Given the description of an element on the screen output the (x, y) to click on. 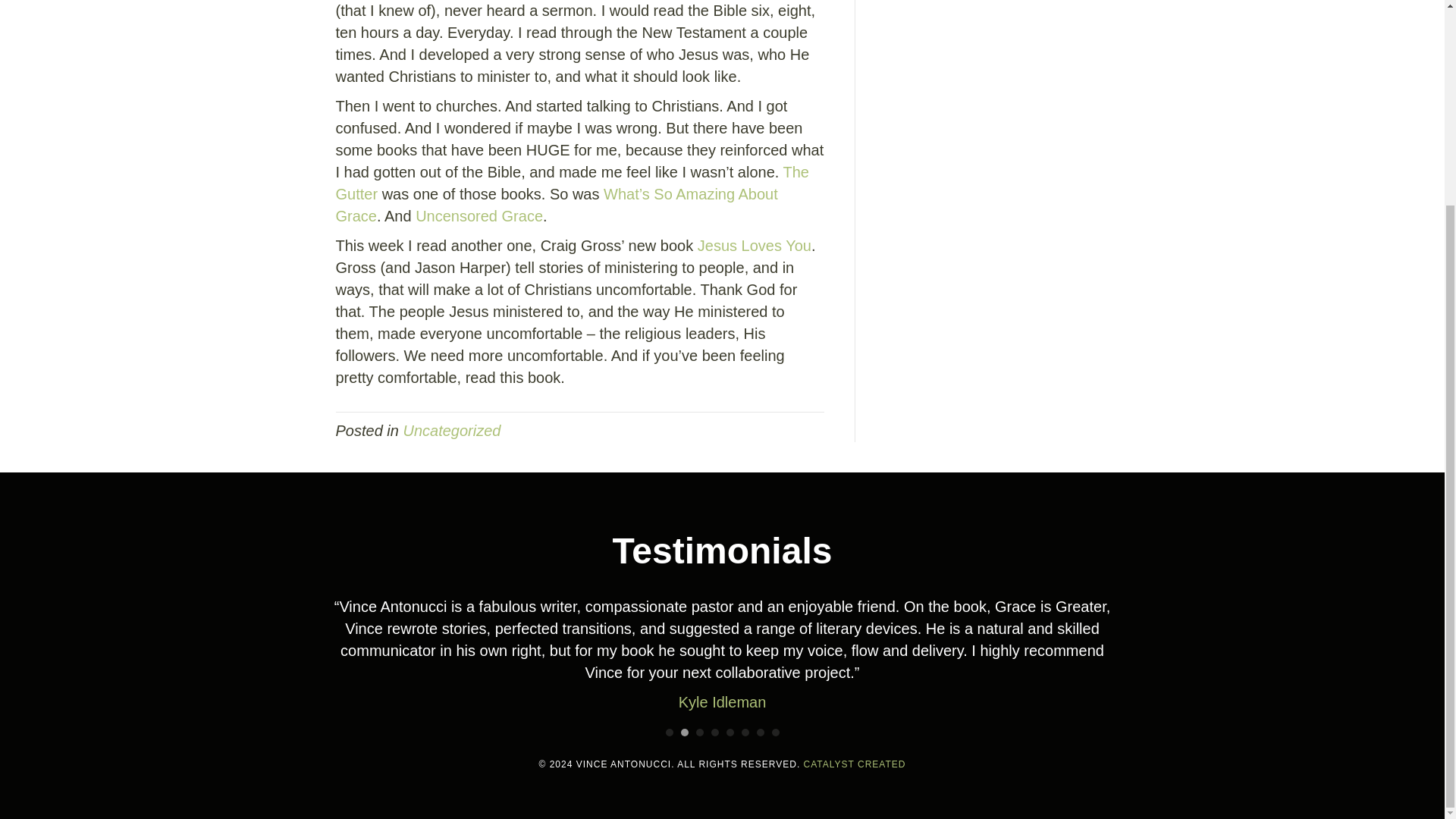
CATALYST CREATED (854, 764)
Jesus Loves You (753, 245)
2 (684, 732)
The Gutter (571, 182)
Kyle Idleman (722, 701)
8 (774, 732)
7 (760, 732)
1 (668, 732)
5 (729, 732)
Uncensored Grace (478, 216)
